Given the description of an element on the screen output the (x, y) to click on. 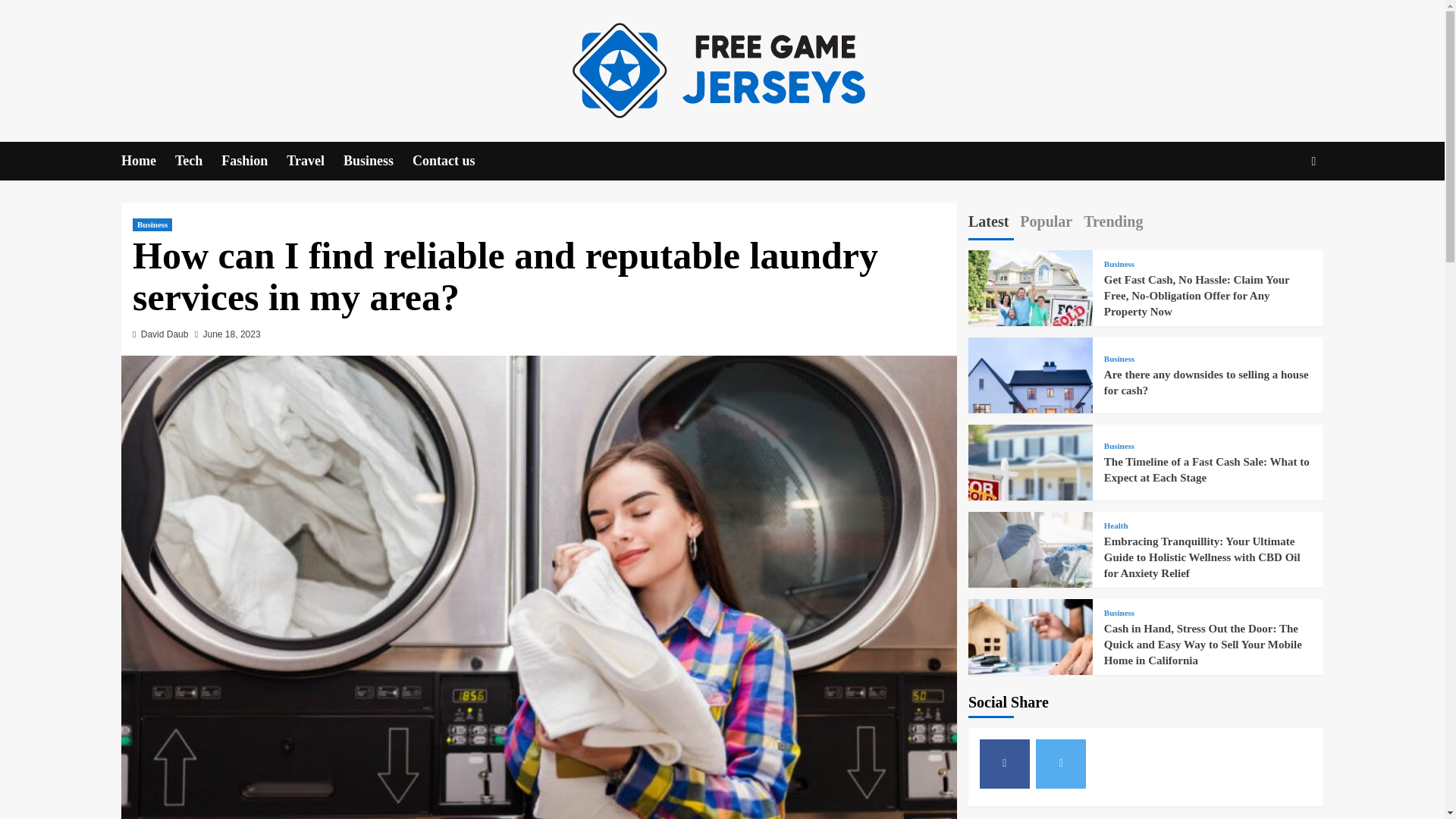
Popular (1045, 223)
Trending (1112, 223)
David Daub (165, 334)
Travel (314, 160)
Search (1278, 207)
Fashion (253, 160)
Business (1118, 264)
Latest (988, 223)
Contact us (453, 160)
Tech (197, 160)
